Given the description of an element on the screen output the (x, y) to click on. 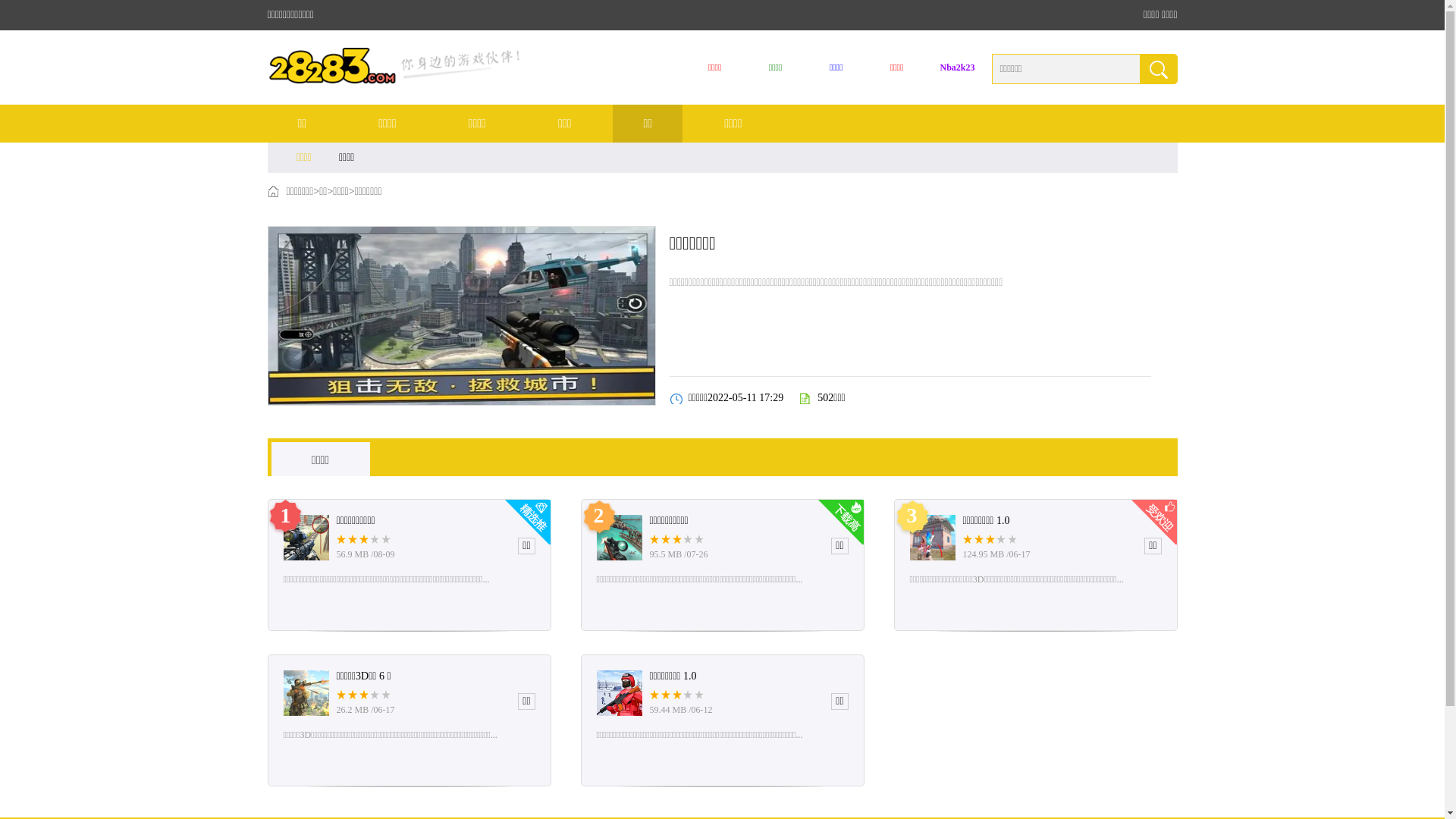
Nba2k23 Element type: text (957, 67)
yes Element type: text (1157, 68)
